Given the description of an element on the screen output the (x, y) to click on. 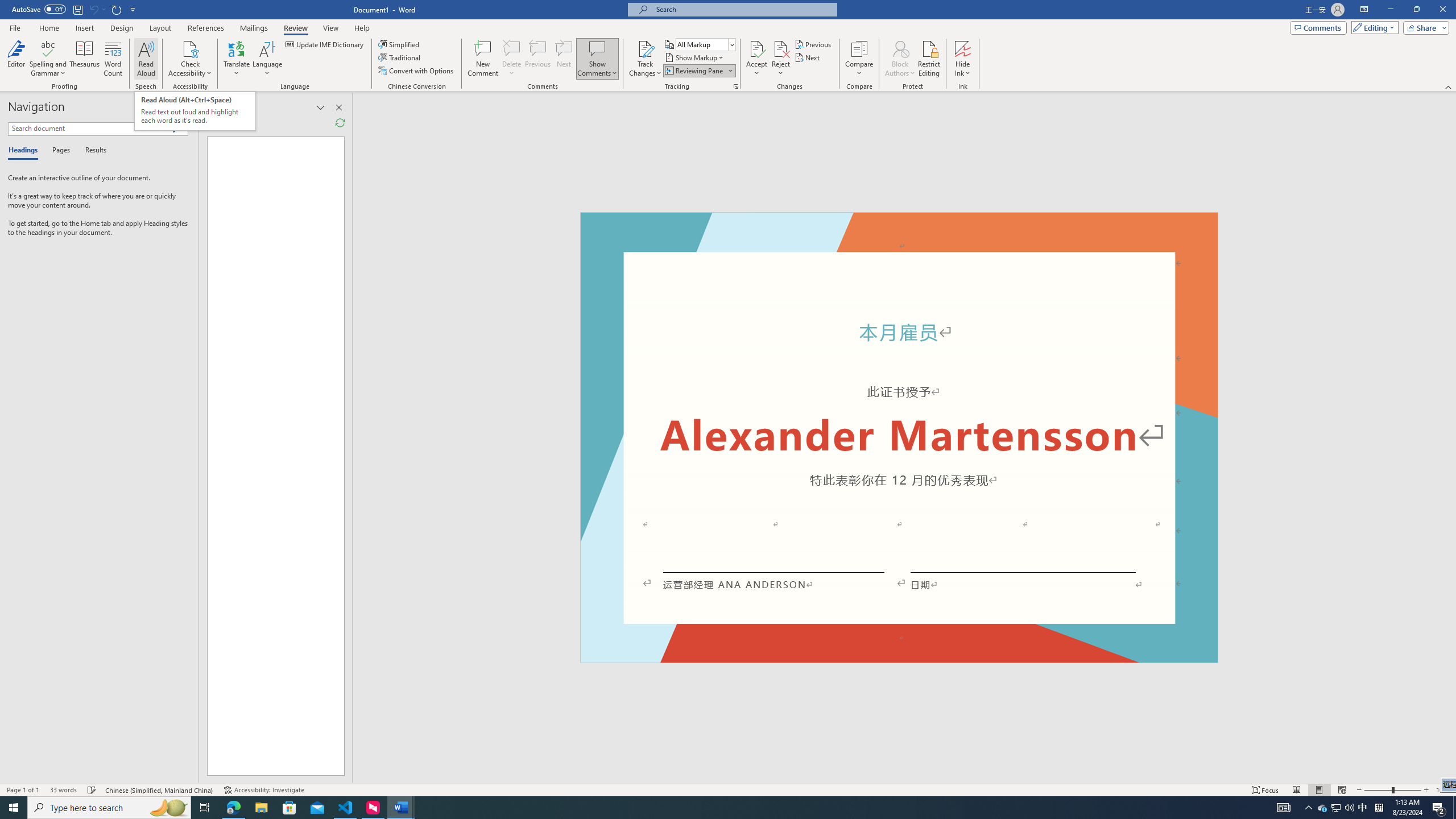
Layout (160, 28)
Translate (236, 58)
Comments (1318, 27)
Hide Ink (962, 58)
Print Layout (1318, 790)
Pages (59, 150)
Task Pane Options (167, 107)
Reject and Move to Next (780, 48)
Page Number Page 1 of 1 (22, 790)
Editor (16, 58)
Previous (813, 44)
References (205, 28)
Can't Undo (96, 9)
Block Authors (900, 58)
